Given the description of an element on the screen output the (x, y) to click on. 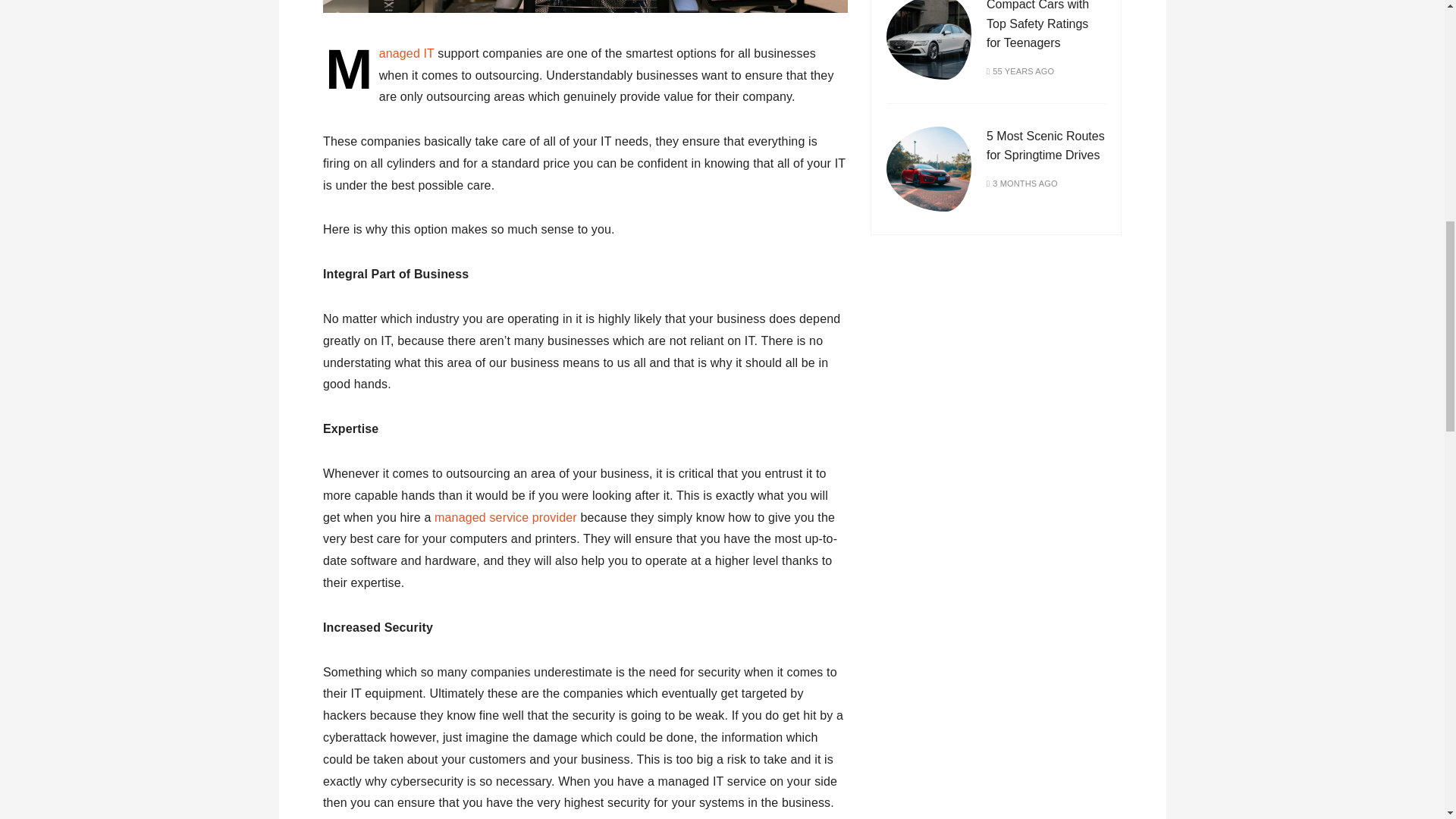
Managed IT (405, 52)
managed service provider (504, 517)
